Given the description of an element on the screen output the (x, y) to click on. 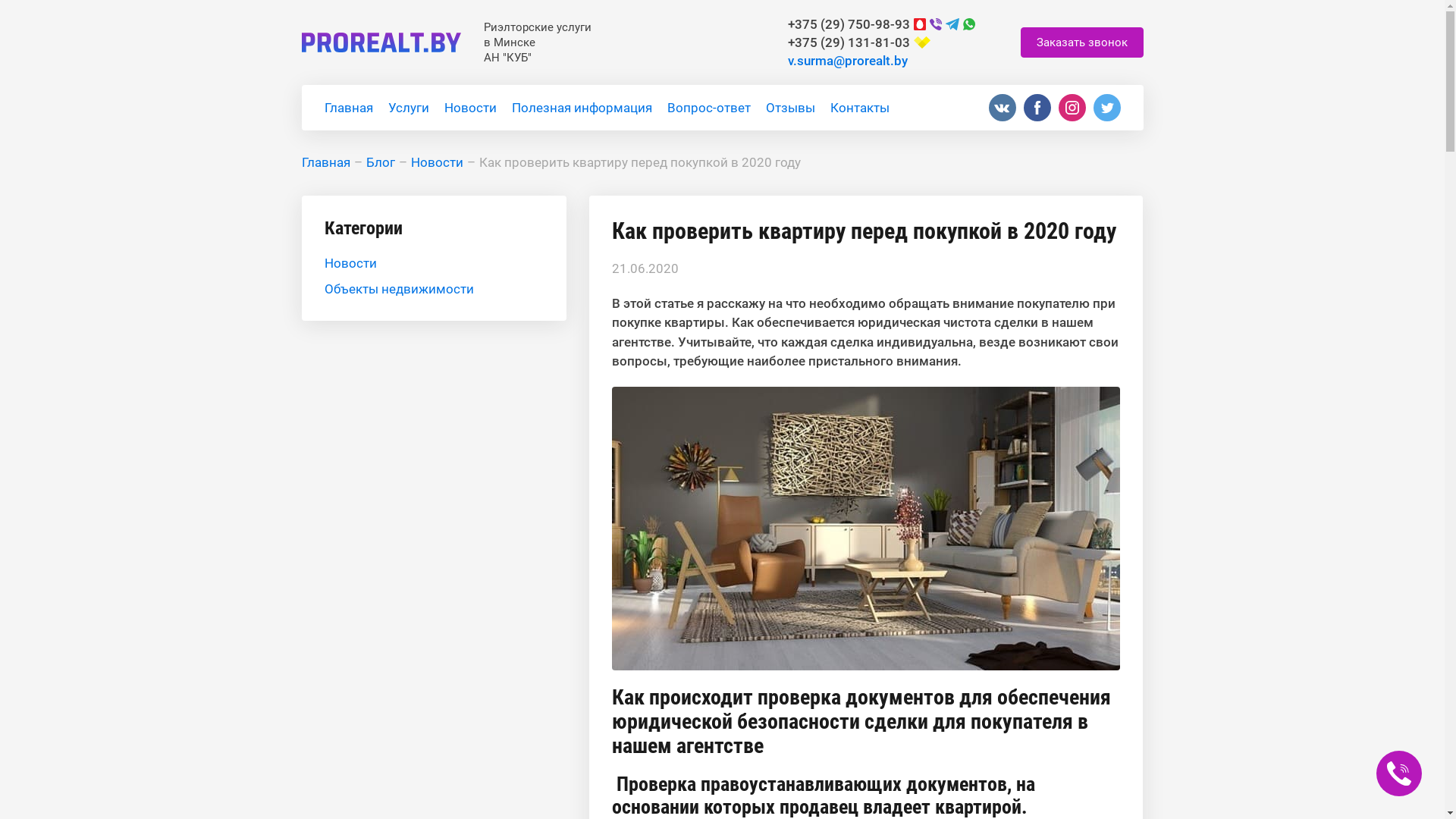
https://vk.com/syrma_rieltor Element type: hover (1002, 107)
https://twitter.com/F4s3bSX5Pij7REi Element type: hover (1106, 107)
v.surma@prorealt.by Element type: text (846, 60)
https://www.facebook.com/profile.php?id=100040772805384 Element type: hover (1037, 107)
https://www.instagram.com/v.surma_prorealt/ Element type: hover (1071, 107)
